Given the description of an element on the screen output the (x, y) to click on. 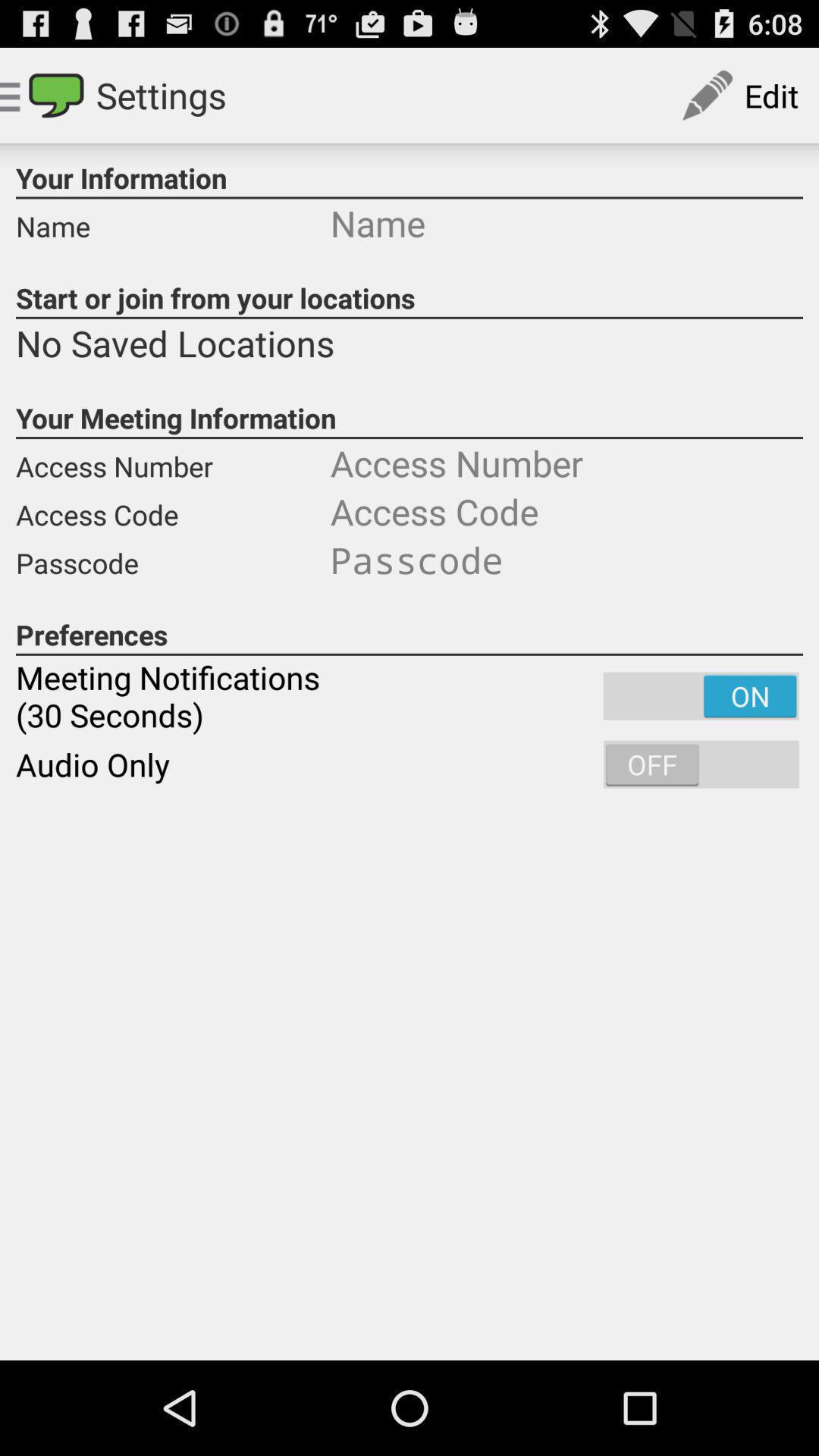
add a quick reminder code of the local (566, 559)
